Given the description of an element on the screen output the (x, y) to click on. 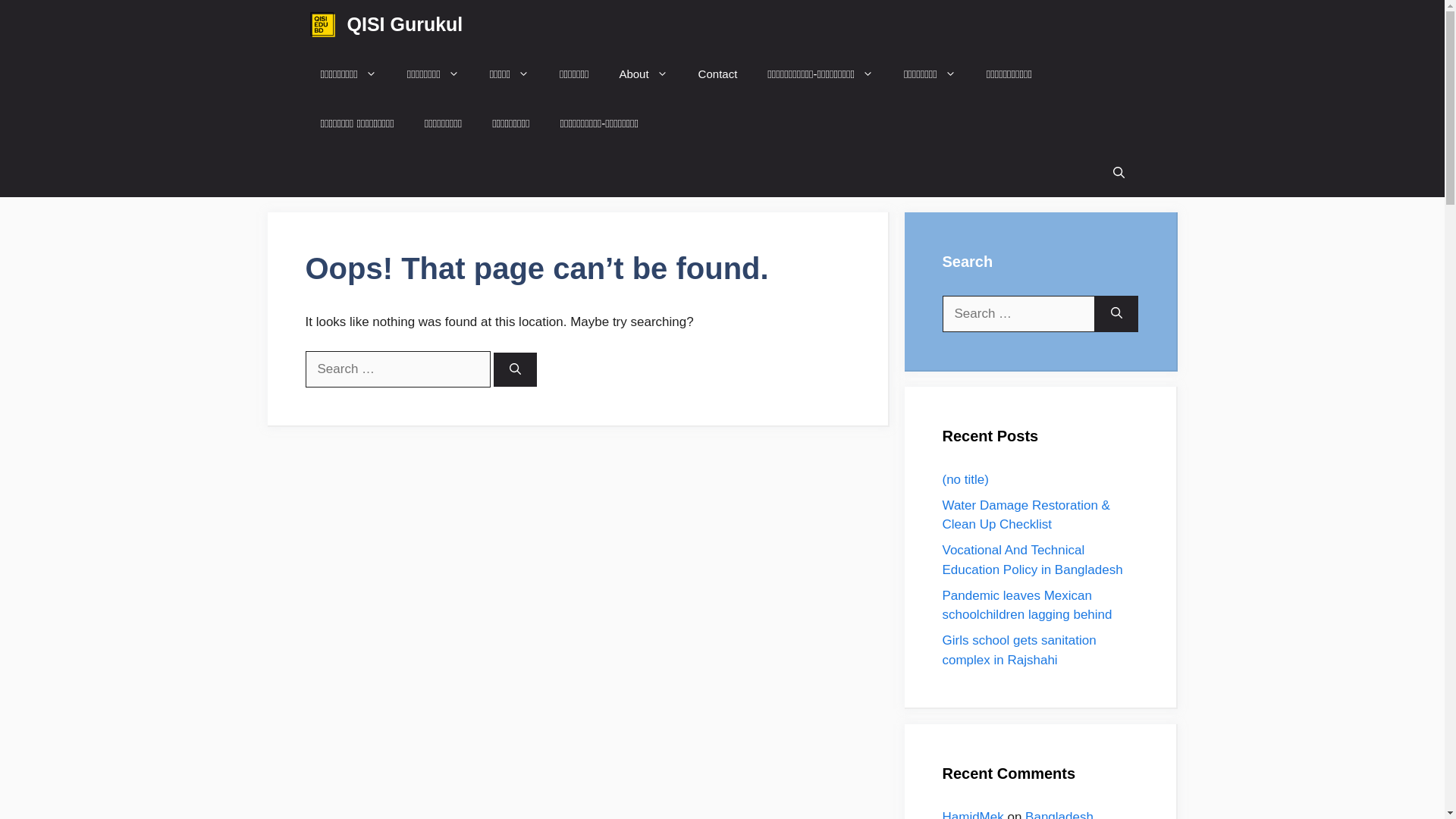
Girls school gets sanitation complex in Rajshahi Element type: text (1018, 650)
QISI Gurukul Element type: hover (321, 24)
Pandemic leaves Mexican schoolchildren lagging behind Element type: text (1026, 605)
Search for: Element type: hover (396, 369)
Search for: Element type: hover (1017, 313)
Vocational And Technical Education Policy in Bangladesh Element type: text (1031, 559)
QISI Gurukul Element type: text (405, 24)
Water Damage Restoration & Clean Up Checklist Element type: text (1025, 514)
About Element type: text (642, 73)
(no title) Element type: text (964, 478)
Contact Element type: text (718, 73)
